Given the description of an element on the screen output the (x, y) to click on. 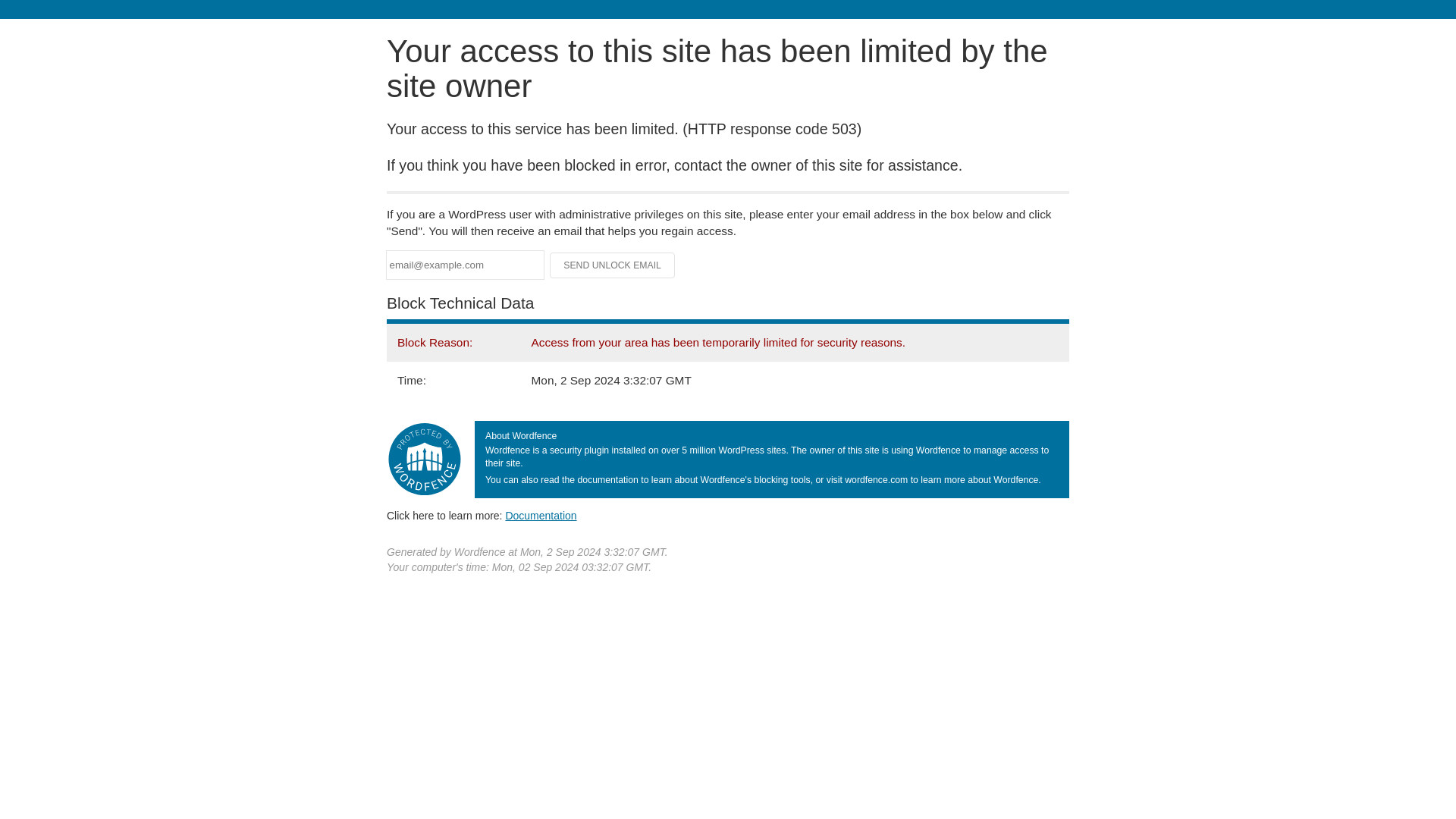
Send Unlock Email (612, 265)
Documentation (540, 515)
Send Unlock Email (612, 265)
